Given the description of an element on the screen output the (x, y) to click on. 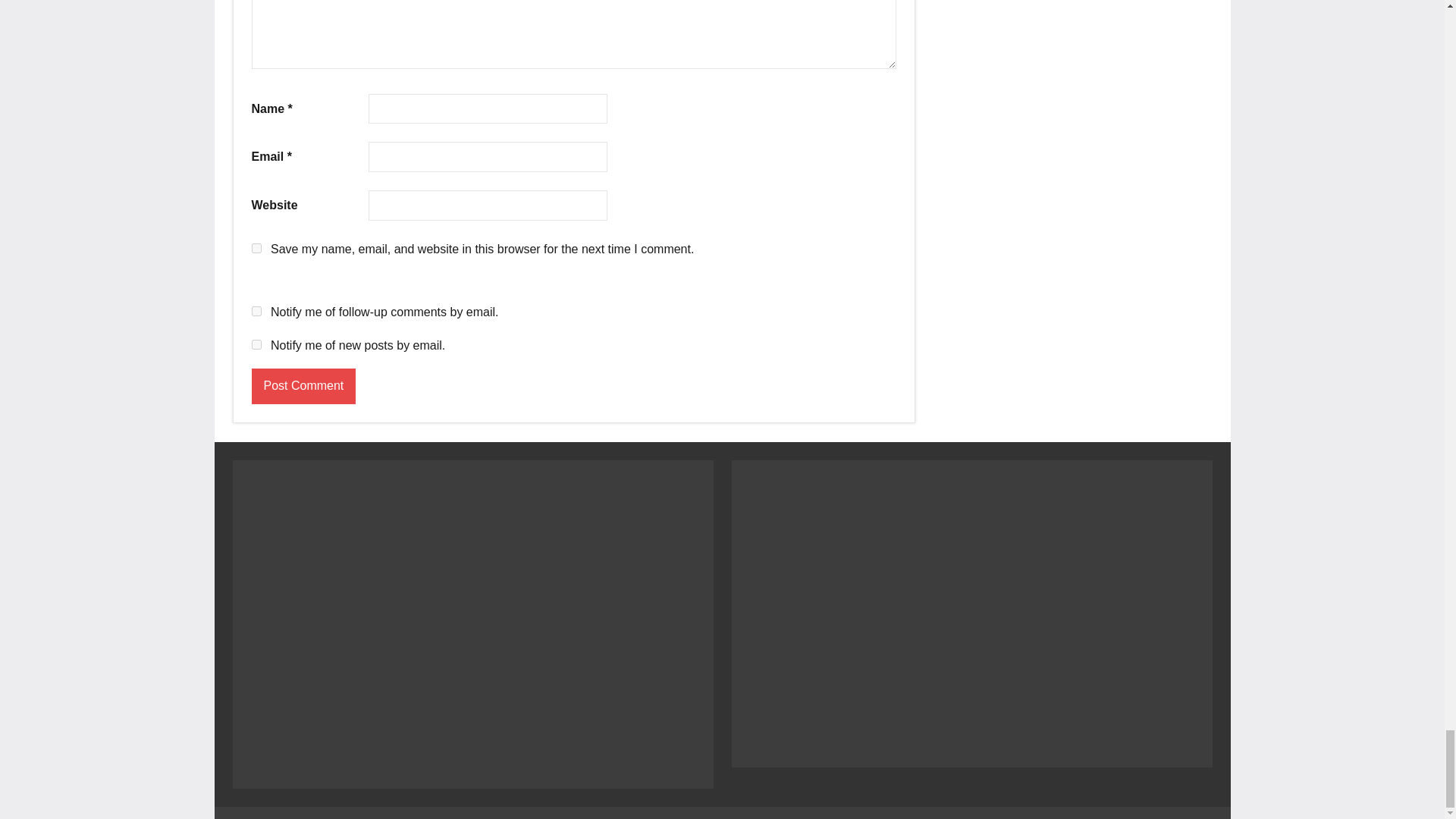
subscribe (256, 344)
yes (256, 248)
subscribe (256, 311)
Post Comment (303, 386)
